Given the description of an element on the screen output the (x, y) to click on. 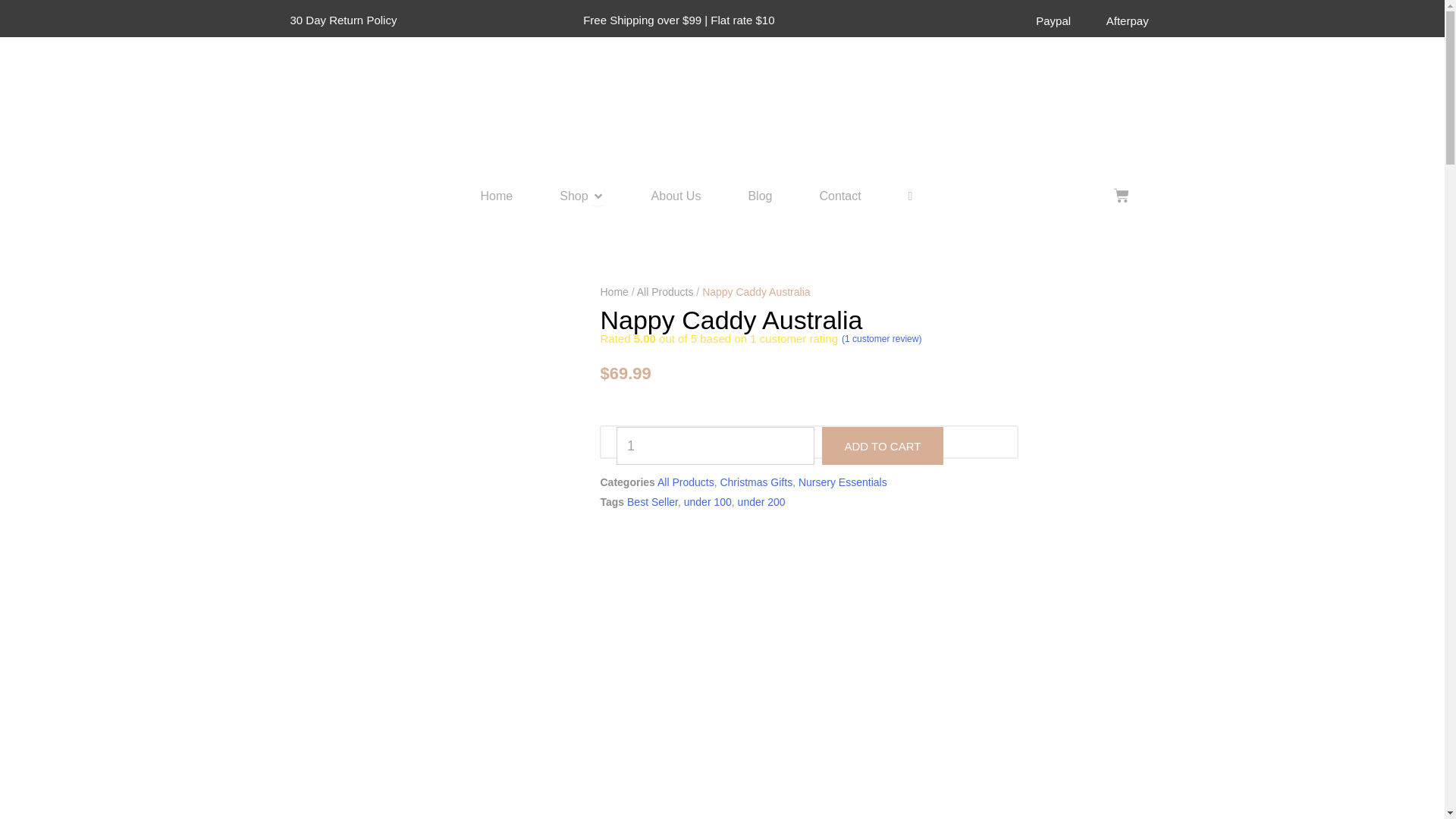
Home (496, 196)
About Us (675, 196)
Blog (759, 196)
1 (714, 445)
Shop (573, 196)
Contact (839, 196)
Cart (1120, 196)
